Given the description of an element on the screen output the (x, y) to click on. 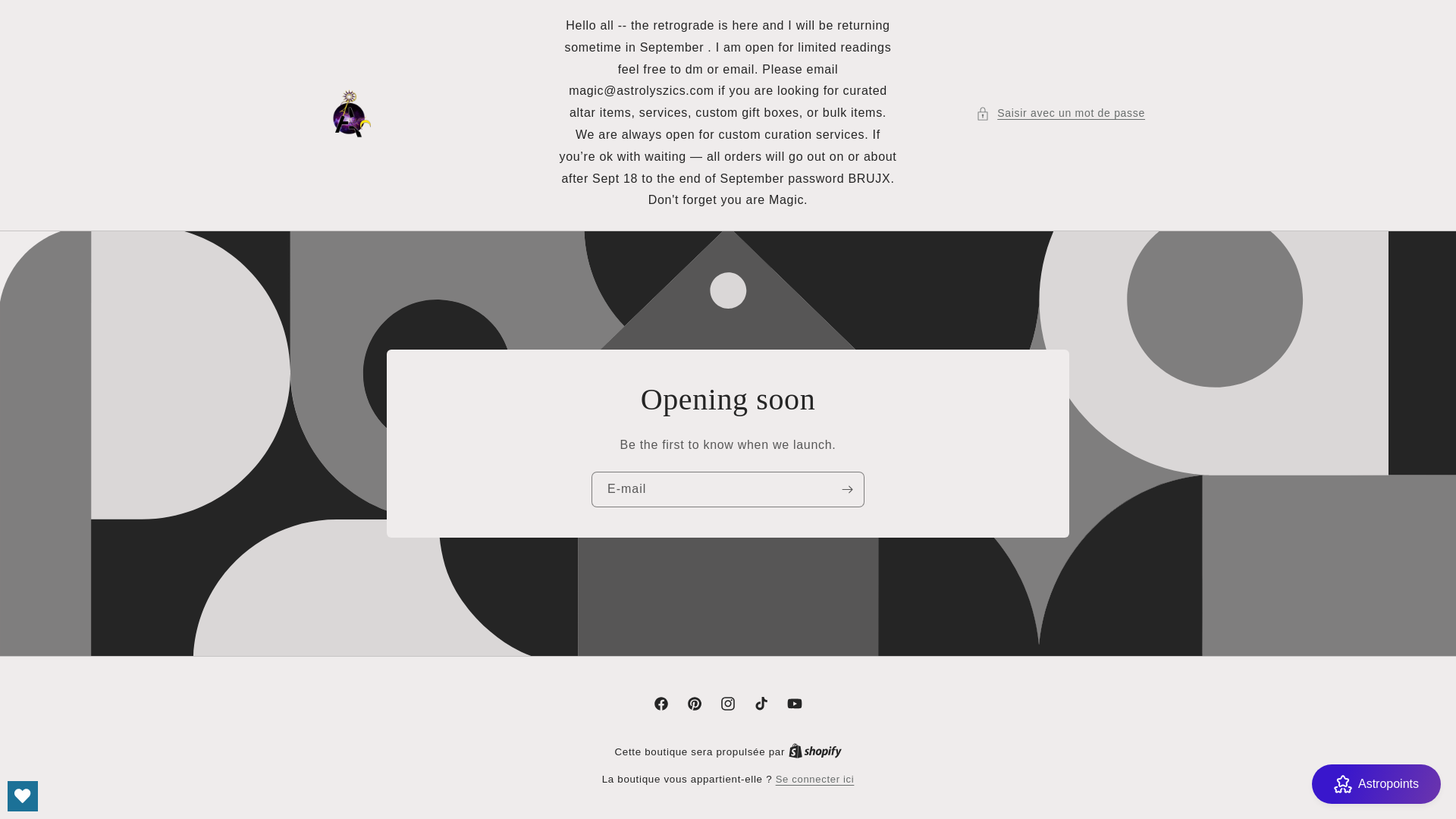
Facebook (661, 703)
Ignorer et passer au contenu (45, 17)
Astropoints (1376, 783)
TikTok (760, 703)
YouTube (793, 703)
Pinterest (694, 703)
Instagram (727, 703)
Se connecter ici (815, 779)
